Given the description of an element on the screen output the (x, y) to click on. 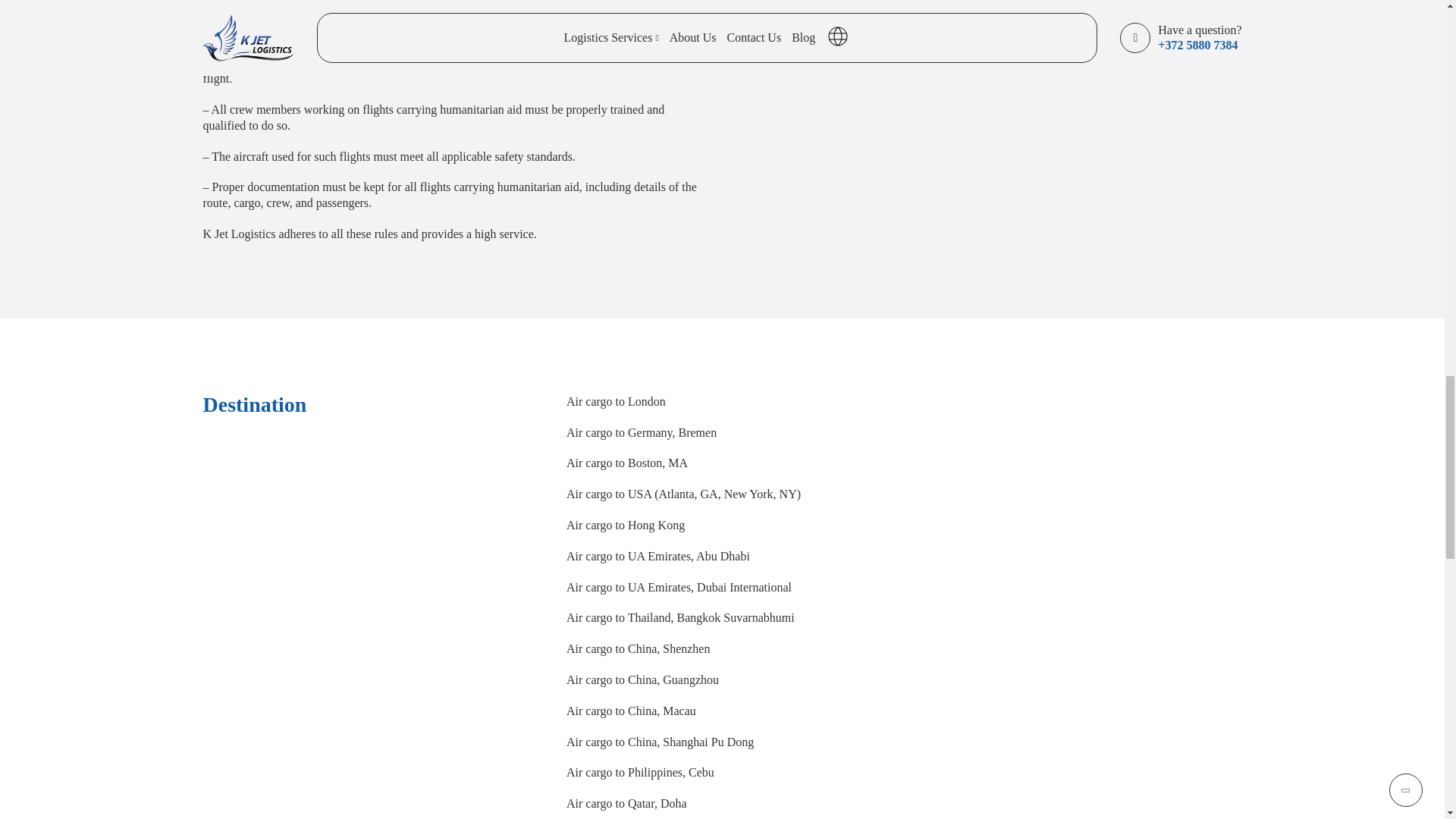
Air cargo to China, Macau  (632, 710)
Air cargo to Qatar, Doha  (628, 802)
Air cargo to China, Guangzhou  (644, 679)
Air cargo to Thailand, Bangkok Suvarnabhumi (680, 617)
Air cargo to UA Emirates, Abu Dhabi  (659, 555)
Air cargo to Germany, Bremen  (642, 431)
Air cargo to Hong Kong  (626, 524)
Air cargo to Boston, MA  (628, 462)
Air cargo to London  (617, 400)
Air cargo to China, Shenzhen  (639, 648)
Air cargo to UA Emirates, Dubai International  (680, 586)
Air cargo to China, Shanghai Pu Dong  (661, 741)
Air cargo to Philippines, Cebu  (641, 771)
